Given the description of an element on the screen output the (x, y) to click on. 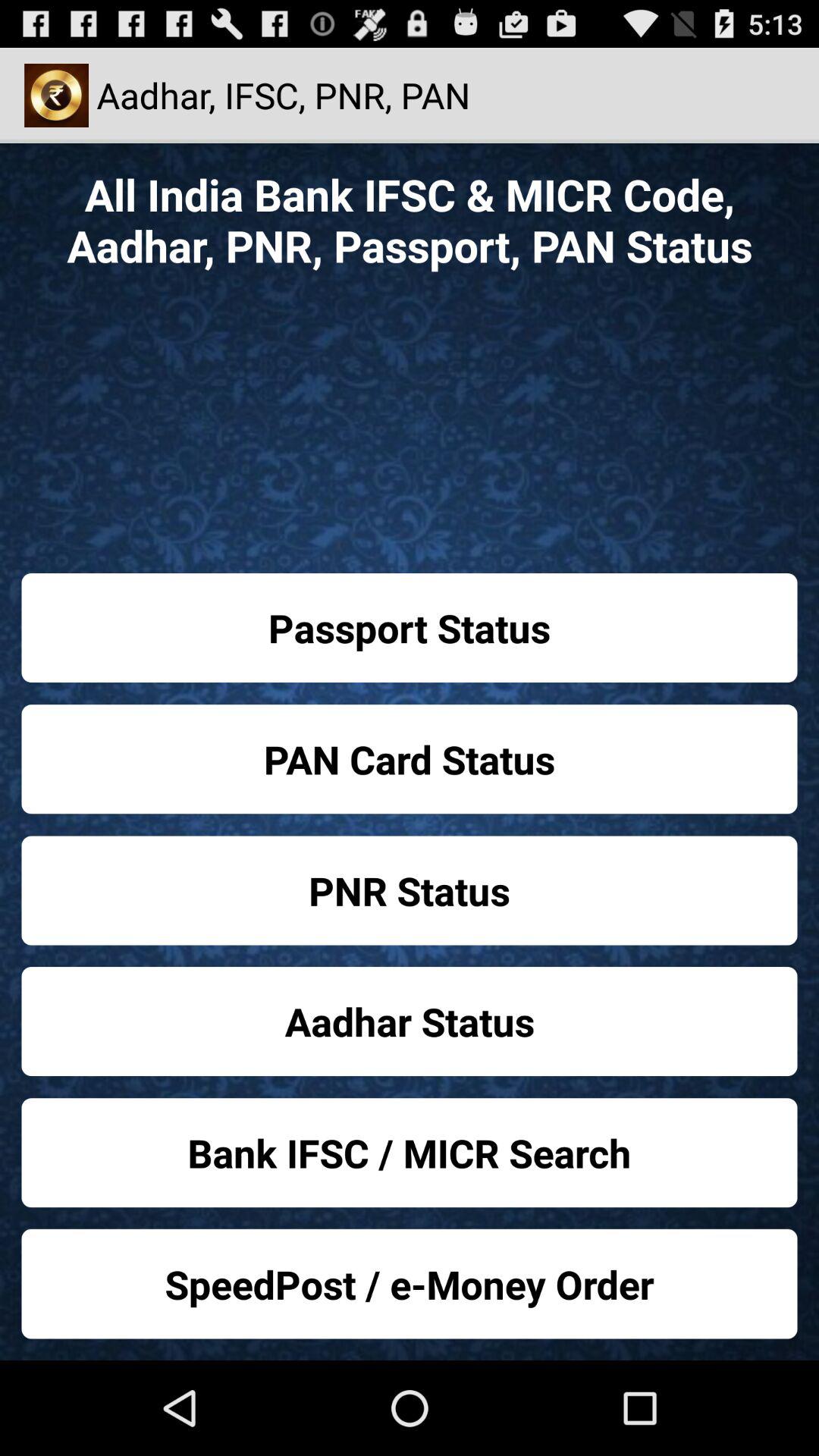
tap the speedpost e money icon (409, 1283)
